Given the description of an element on the screen output the (x, y) to click on. 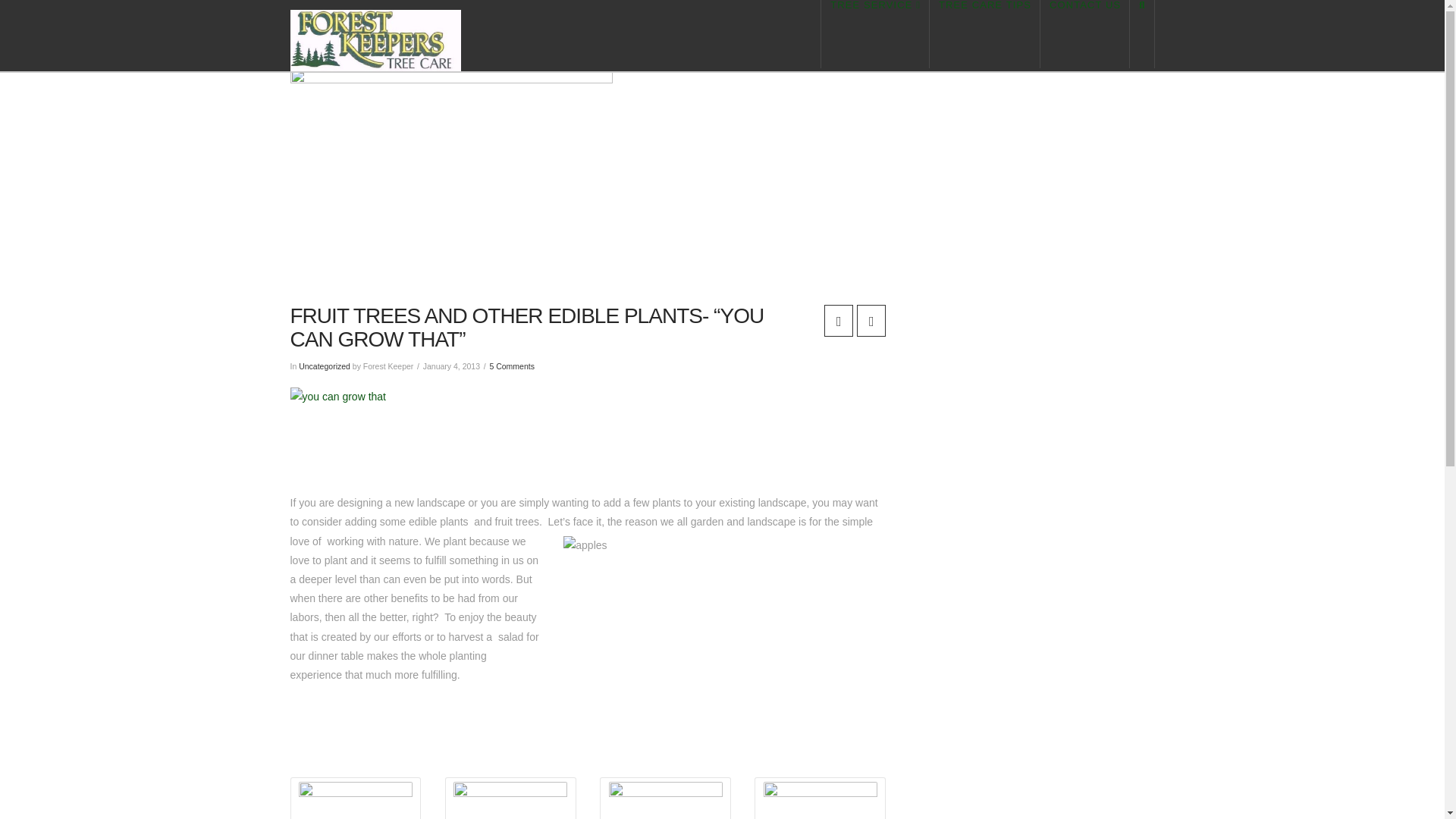
CONTACT US (1085, 33)
Uncategorized (324, 366)
TREE CARE TIPS (985, 33)
TREE SERVICE (875, 33)
5 Comments (511, 366)
